Given the description of an element on the screen output the (x, y) to click on. 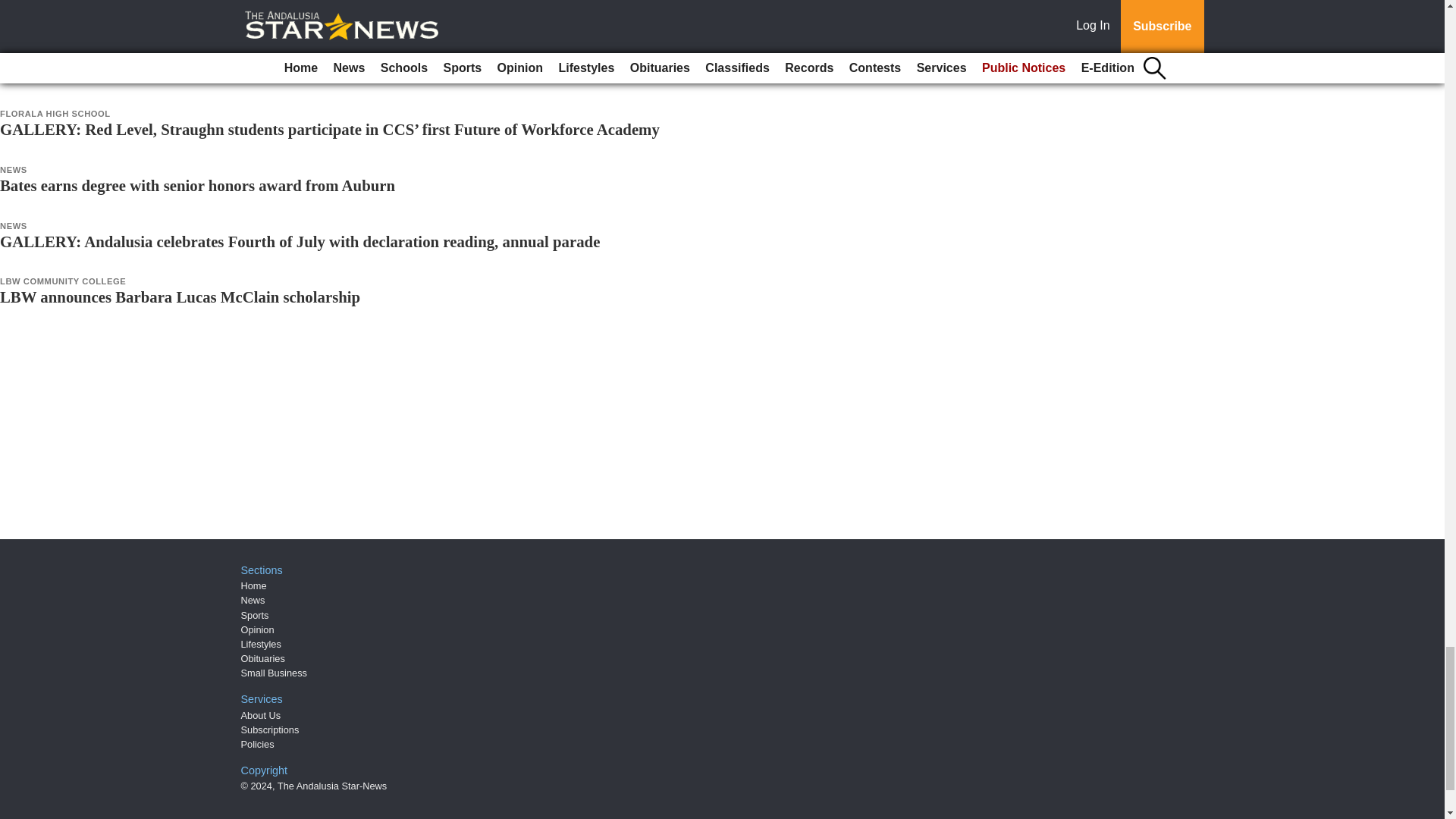
Fire departments respond to Fourth of July structure fire (192, 17)
